Given the description of an element on the screen output the (x, y) to click on. 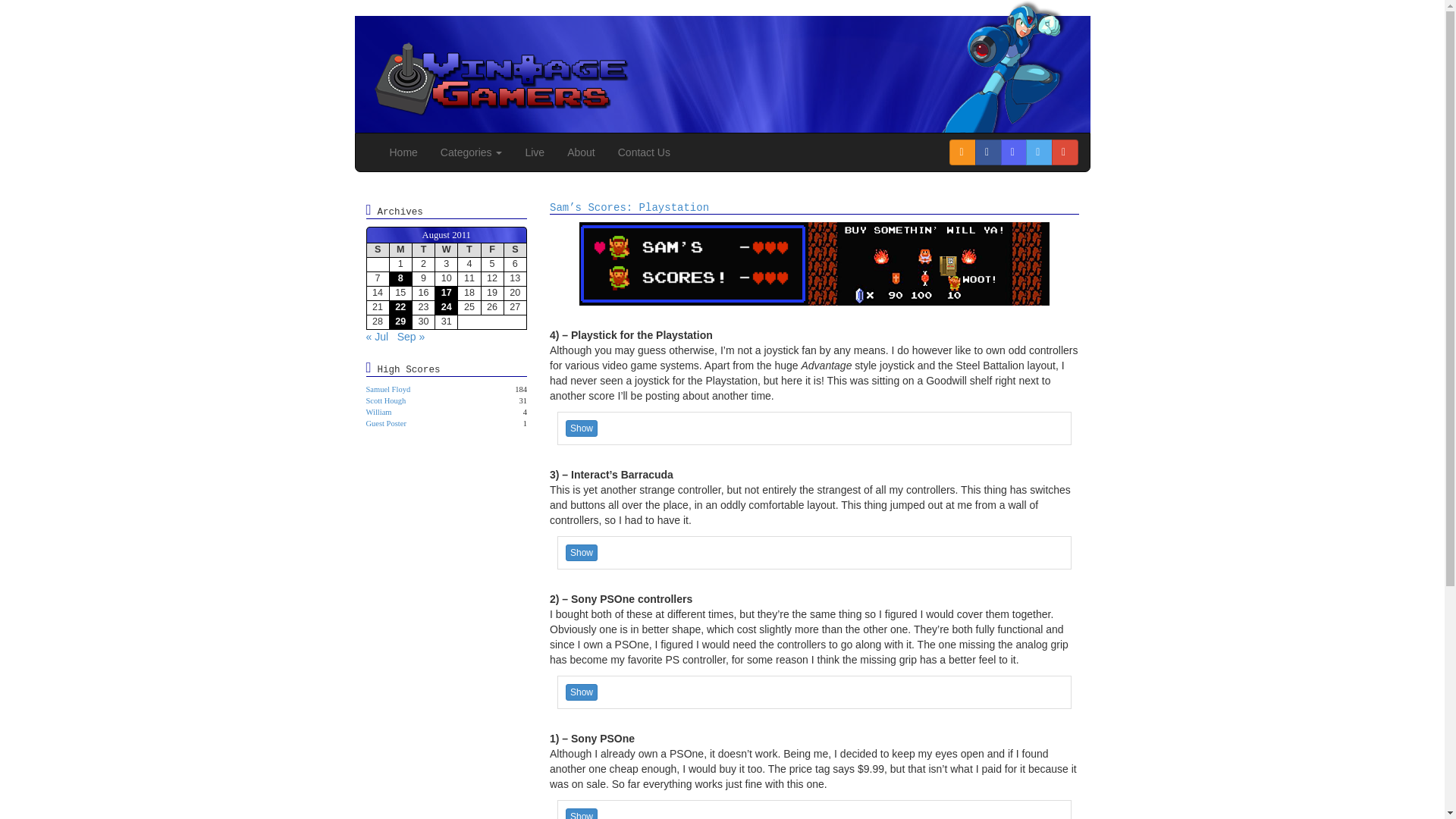
8 (401, 278)
Monday (400, 249)
22 (401, 307)
24 (446, 307)
Saturday (514, 249)
Home (402, 152)
Sunday (377, 249)
Live (534, 152)
29 (401, 322)
17 (446, 293)
